Given the description of an element on the screen output the (x, y) to click on. 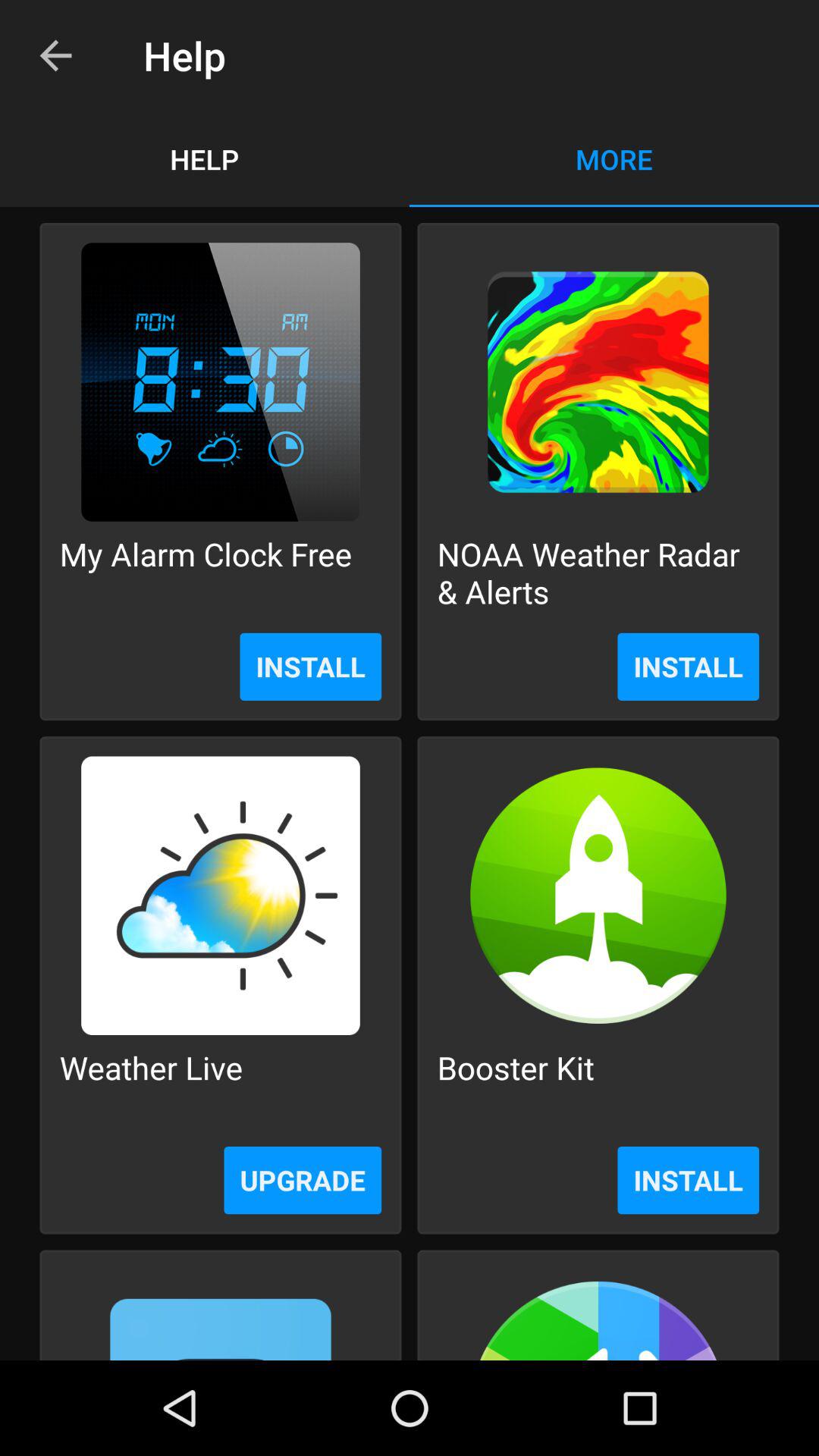
launch the item below the weather live item (302, 1180)
